Given the description of an element on the screen output the (x, y) to click on. 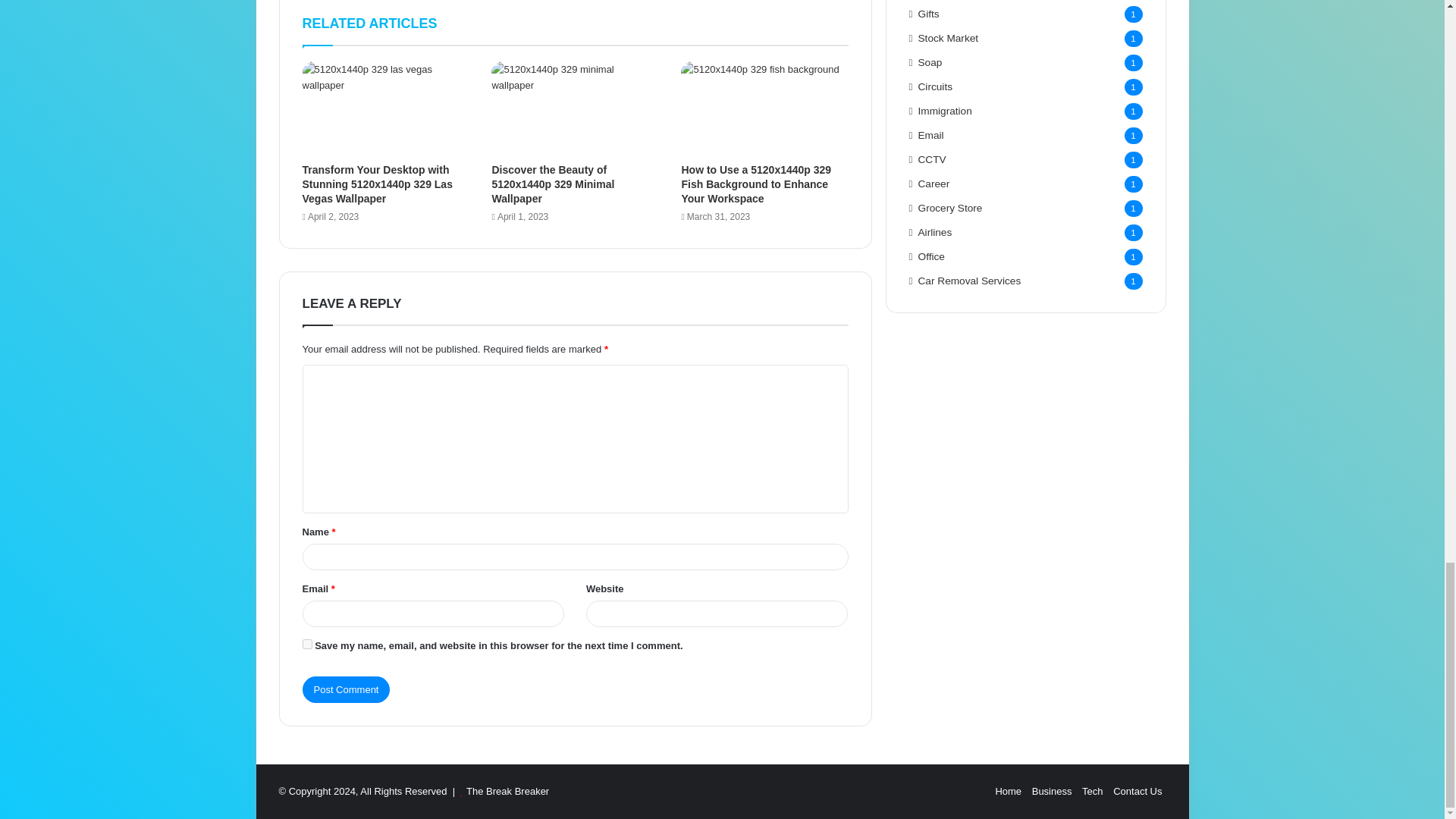
Post Comment (345, 689)
yes (306, 644)
